Given the description of an element on the screen output the (x, y) to click on. 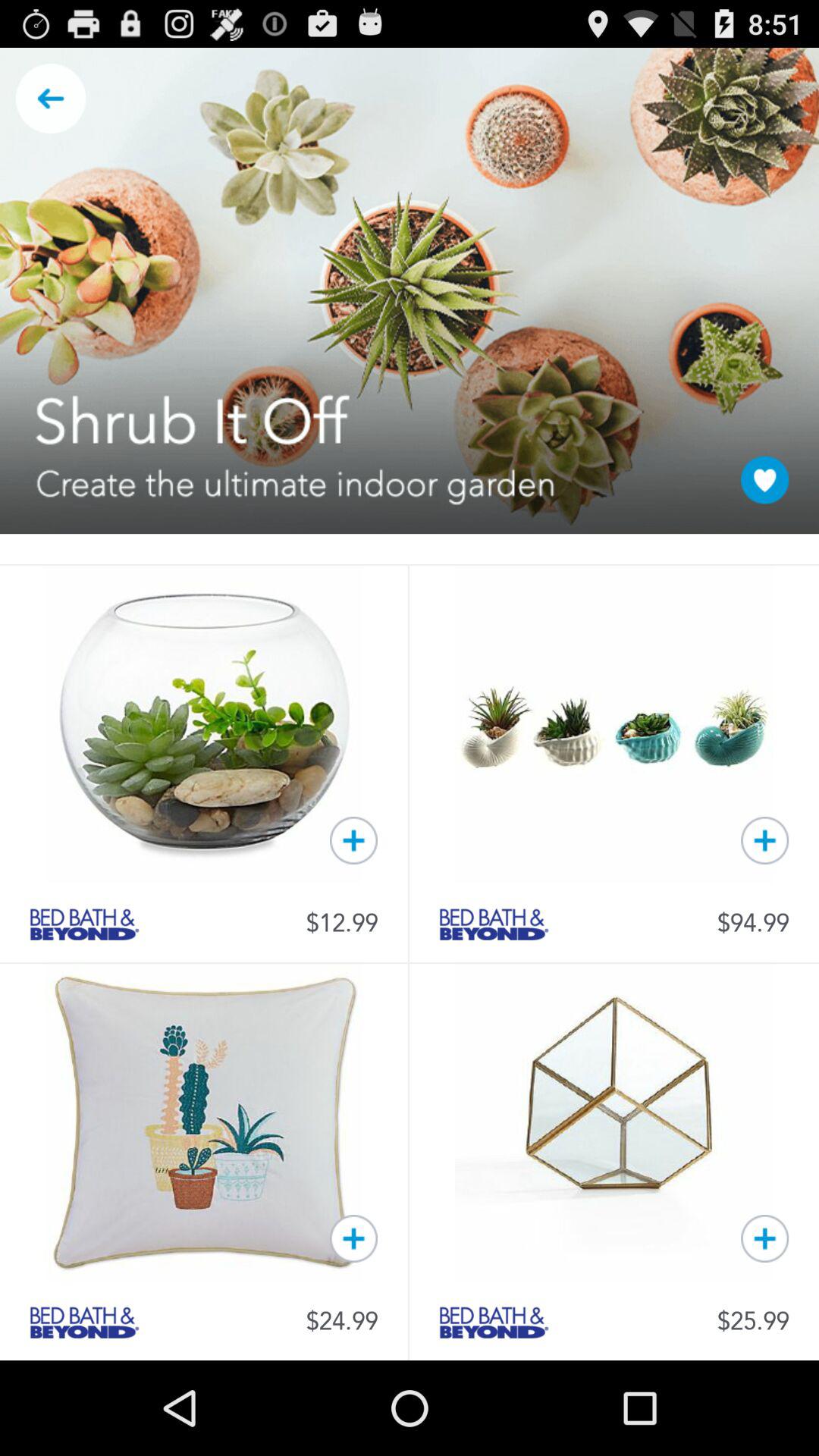
check bed bath beyond category (84, 924)
